Given the description of an element on the screen output the (x, y) to click on. 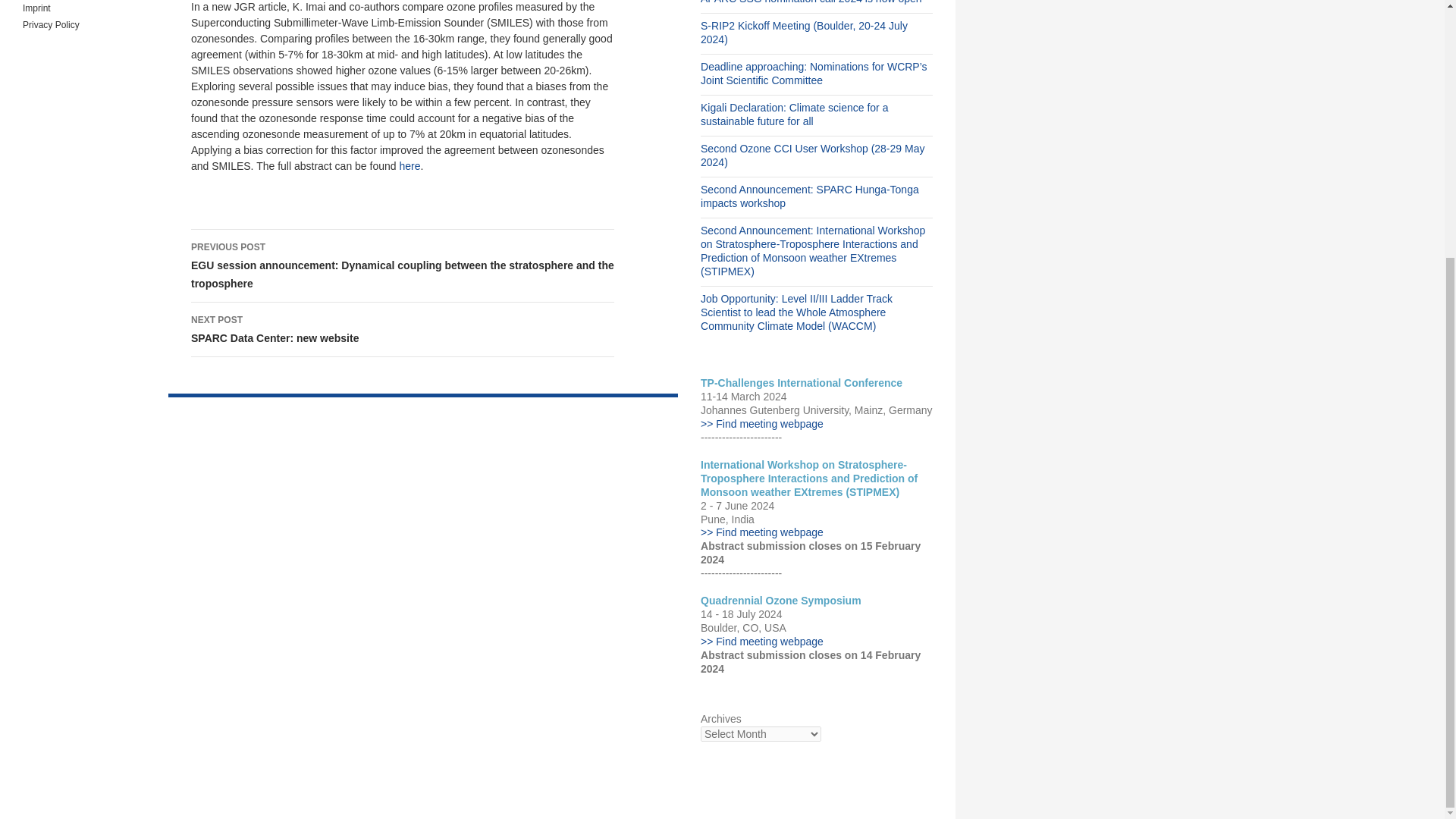
here (409, 165)
Imprint (36, 8)
APARC SSG nomination call 2024 is now open (810, 2)
Privacy Policy (51, 24)
here (402, 329)
Second Announcement: SPARC Hunga-Tonga impacts workshop (409, 165)
